Given the description of an element on the screen output the (x, y) to click on. 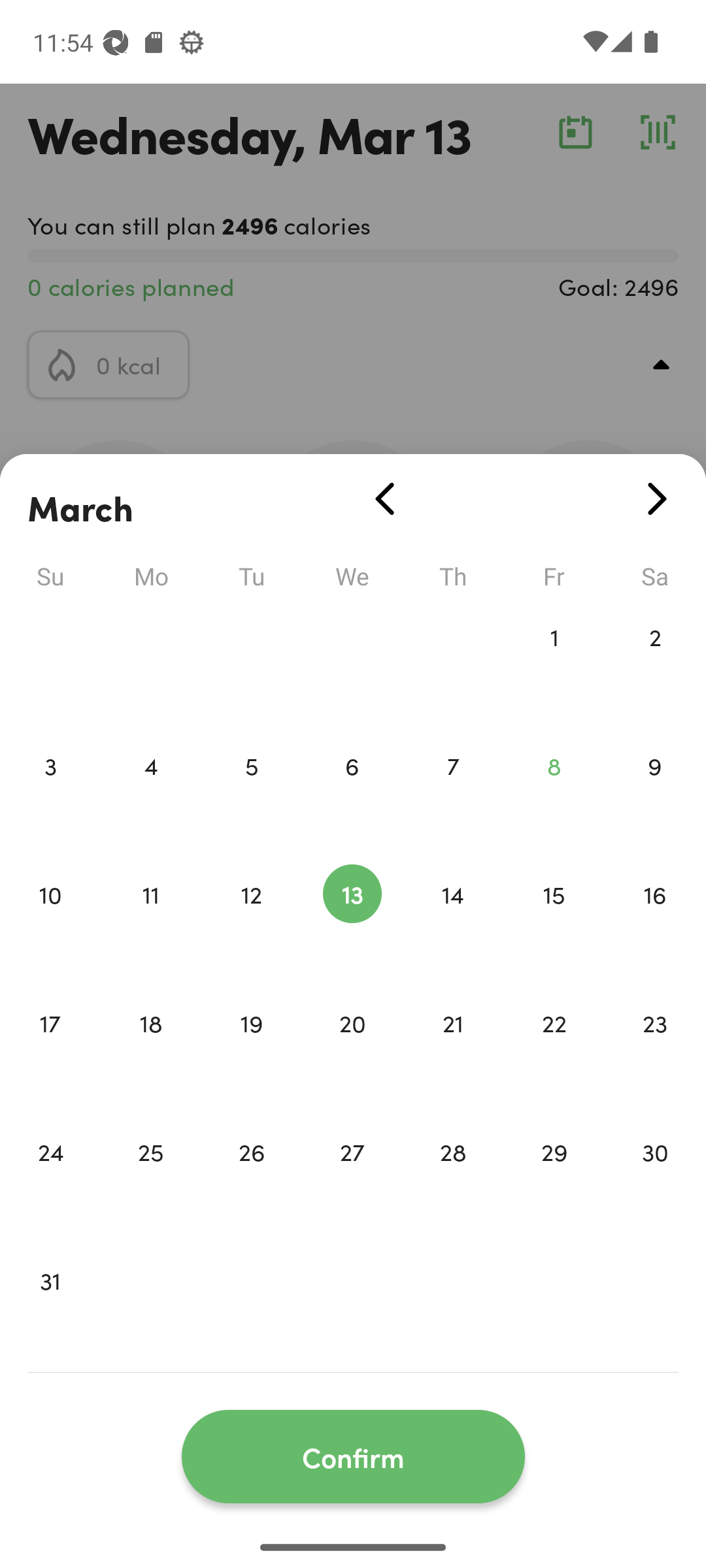
1 (554, 663)
2 (655, 663)
3 (50, 793)
4 (150, 793)
5 (251, 793)
6 (352, 793)
7 (453, 793)
8 (554, 793)
9 (655, 793)
10 (50, 921)
11 (150, 921)
12 (251, 921)
13 (352, 921)
14 (453, 921)
15 (554, 921)
16 (655, 921)
17 (50, 1050)
18 (150, 1050)
19 (251, 1050)
20 (352, 1050)
21 (453, 1050)
22 (554, 1050)
23 (655, 1050)
24 (50, 1178)
25 (150, 1178)
26 (251, 1178)
27 (352, 1178)
28 (453, 1178)
29 (554, 1178)
30 (655, 1178)
31 (50, 1307)
Confirm (353, 1456)
